Given the description of an element on the screen output the (x, y) to click on. 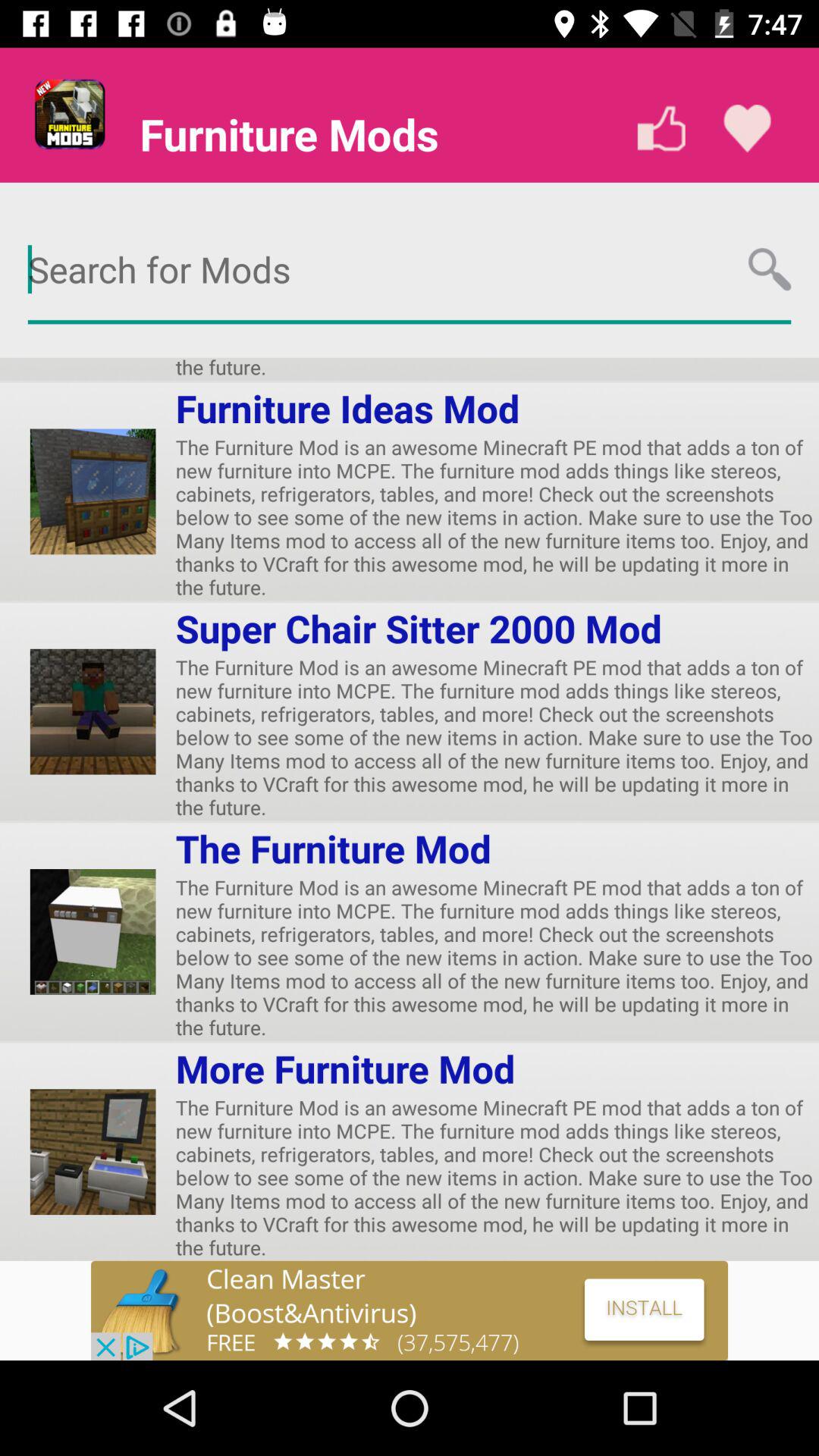
open search box (409, 269)
